Given the description of an element on the screen output the (x, y) to click on. 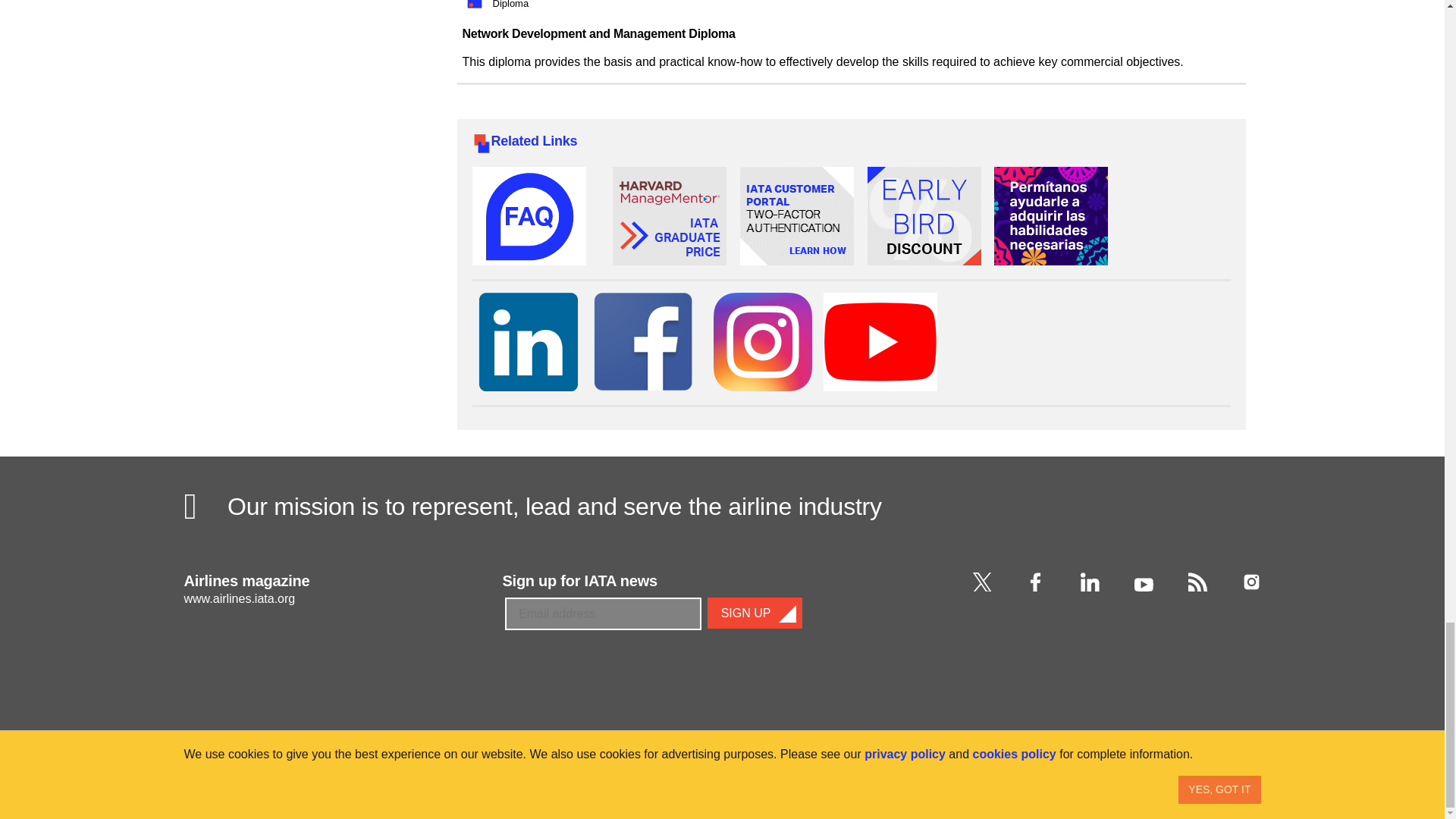
Sign up for IATA news (653, 633)
IATA on Youtube (1143, 580)
IATA on Linkedin (1089, 580)
Follow us on Instagram (762, 345)
Follow us on IATATv (880, 345)
Frequently Asked Questions (528, 219)
Follow us on Facebook (641, 345)
IATA on Instagram (1250, 580)
IATA on Twitter (981, 580)
